Given the description of an element on the screen output the (x, y) to click on. 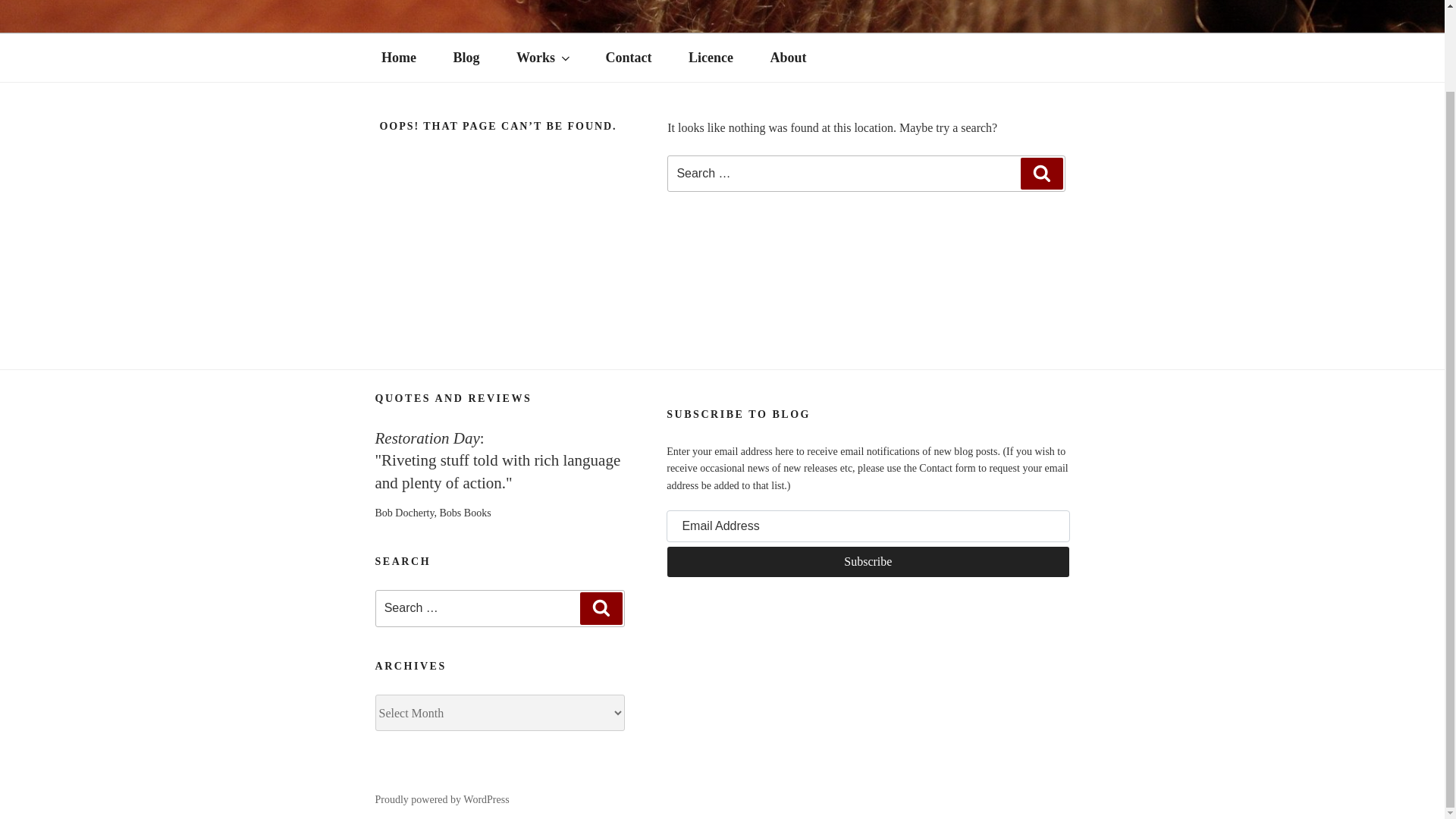
Subscribe (867, 562)
Search (601, 608)
Subscribe (867, 562)
Licence (711, 57)
Works (542, 57)
Blog (465, 57)
Home (398, 57)
About (788, 57)
Search (1041, 173)
Proudly powered by WordPress (441, 799)
Contact (628, 57)
